Given the description of an element on the screen output the (x, y) to click on. 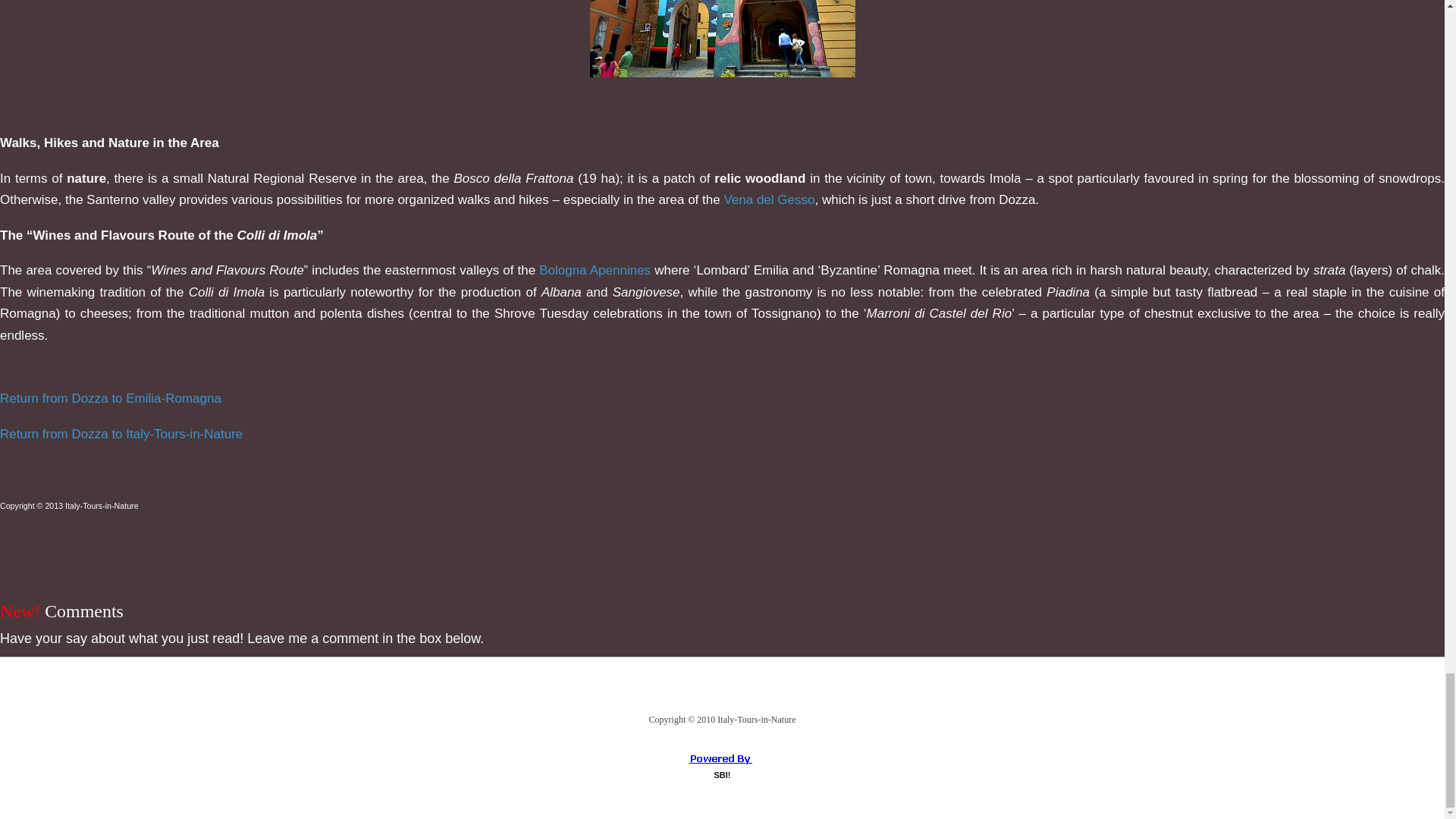
Return from Dozza to Emilia-Romagna (110, 398)
Return from Dozza to Italy-Tours-in-Nature (121, 433)
Bologna Apennines (594, 269)
Vena del Gesso (768, 200)
